Given the description of an element on the screen output the (x, y) to click on. 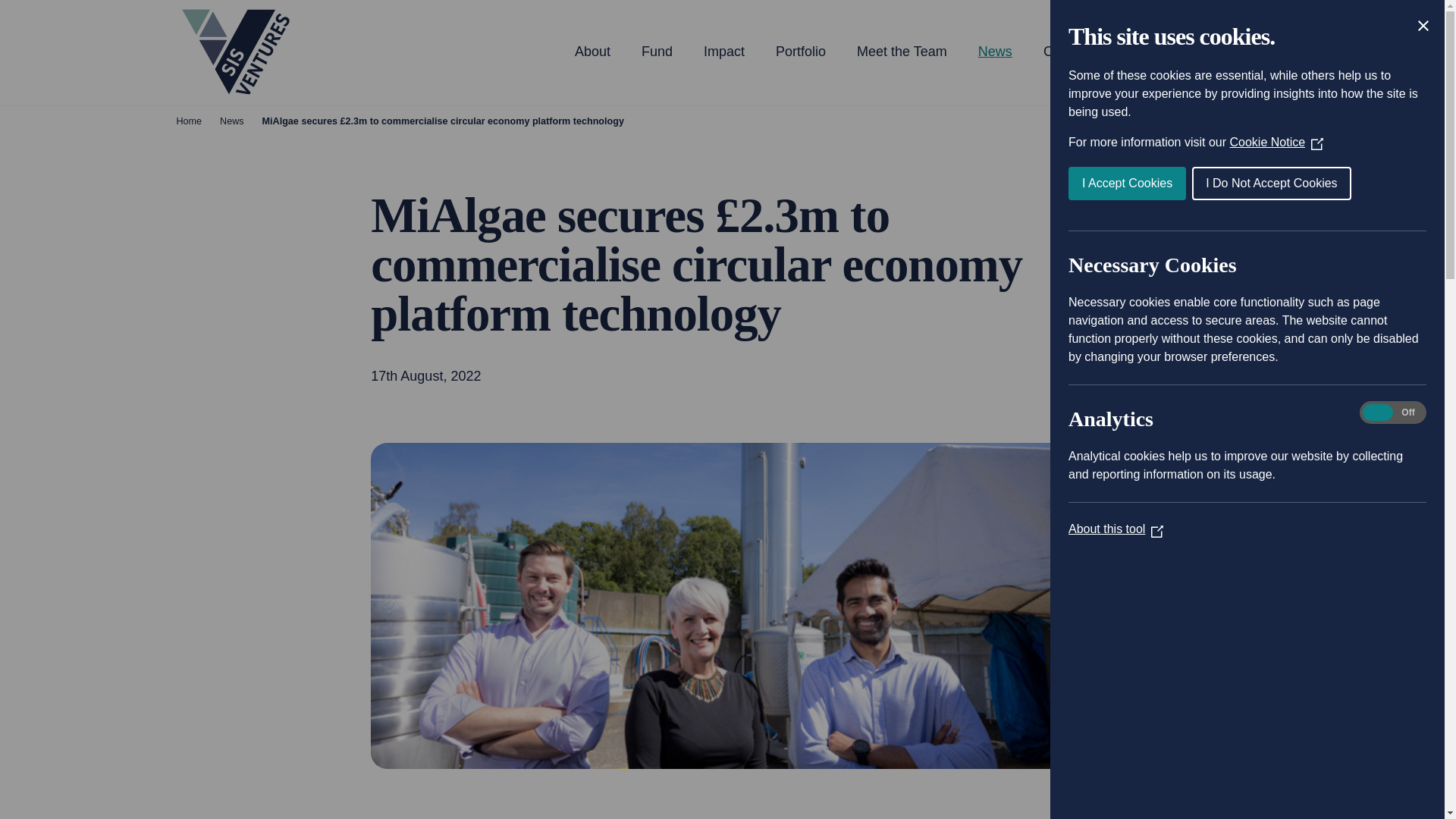
Impact (723, 51)
Fund (657, 51)
News (231, 120)
News (994, 51)
Find out more (1183, 51)
Portfolio (800, 51)
Home (189, 120)
About (592, 51)
Meet the Team (902, 51)
Contact (1066, 51)
